Given the description of an element on the screen output the (x, y) to click on. 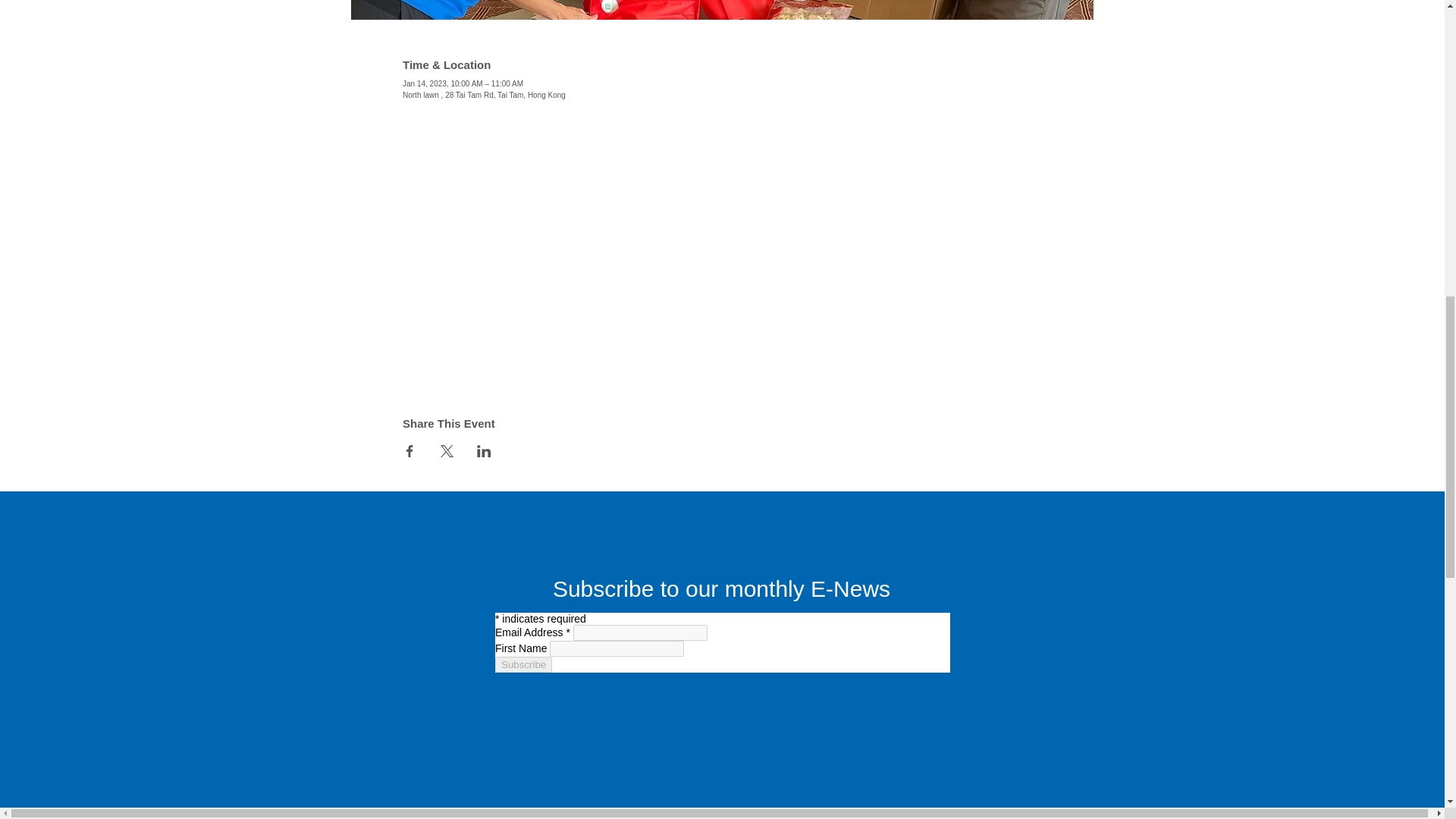
Embedded Content (721, 712)
